Given the description of an element on the screen output the (x, y) to click on. 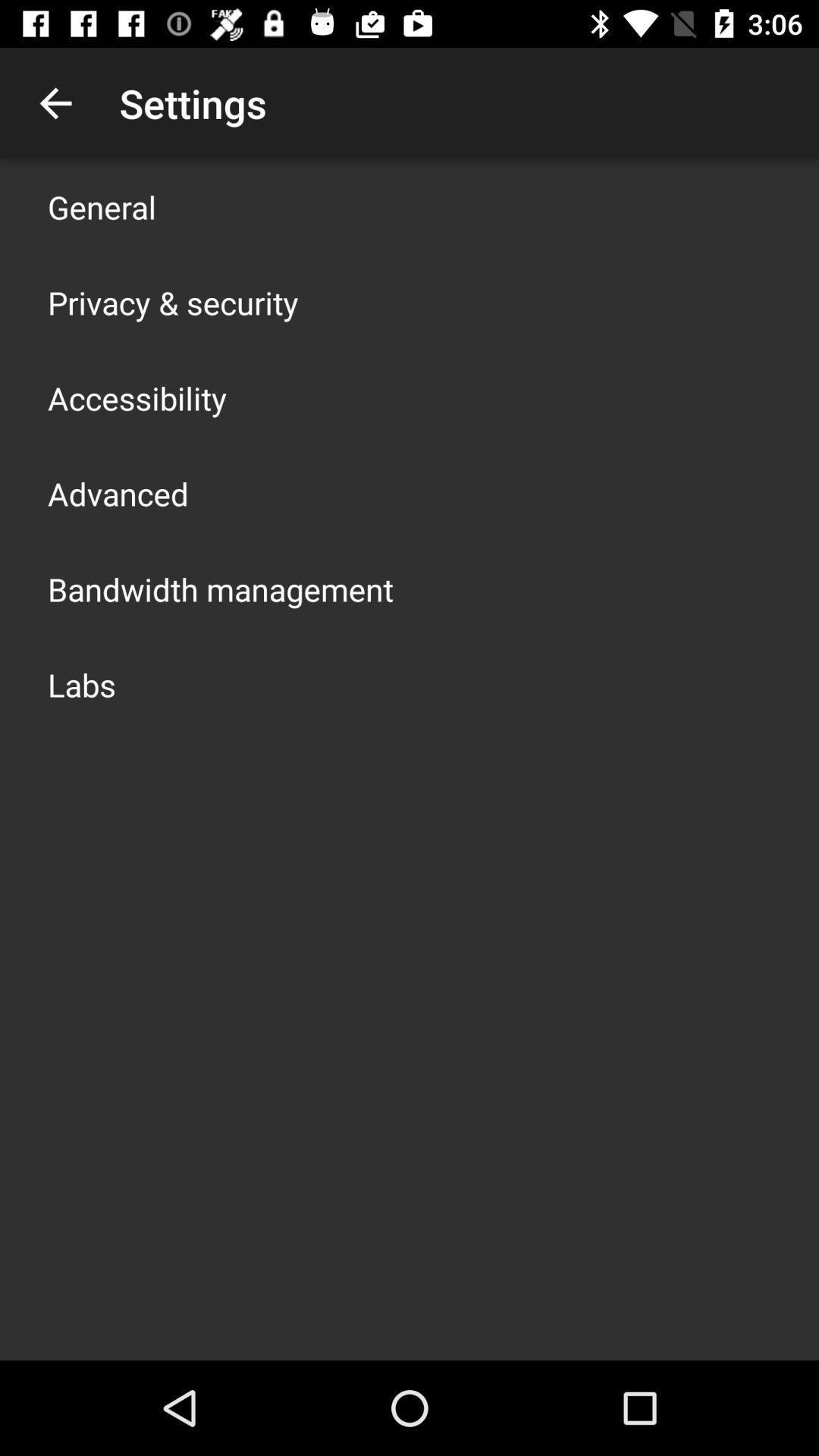
select labs (81, 684)
